Given the description of an element on the screen output the (x, y) to click on. 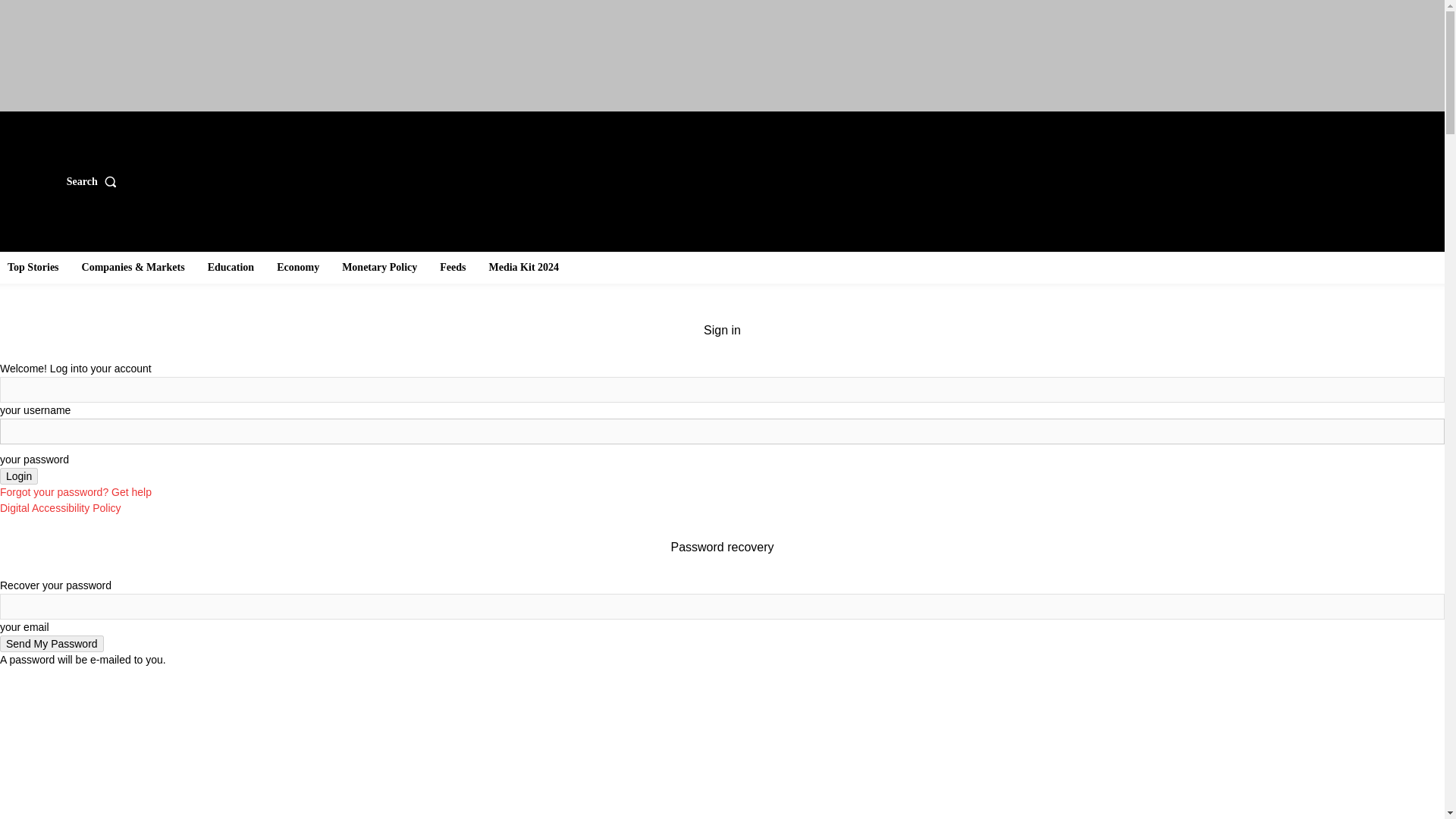
Forgot your password? Get help (75, 491)
Menu (25, 180)
Search (94, 182)
MENU (25, 180)
Digital Accessibility Policy (60, 508)
Media Kit 2024 (523, 267)
Economy (297, 267)
Top Stories (33, 267)
Education (231, 267)
Feeds (452, 267)
